Given the description of an element on the screen output the (x, y) to click on. 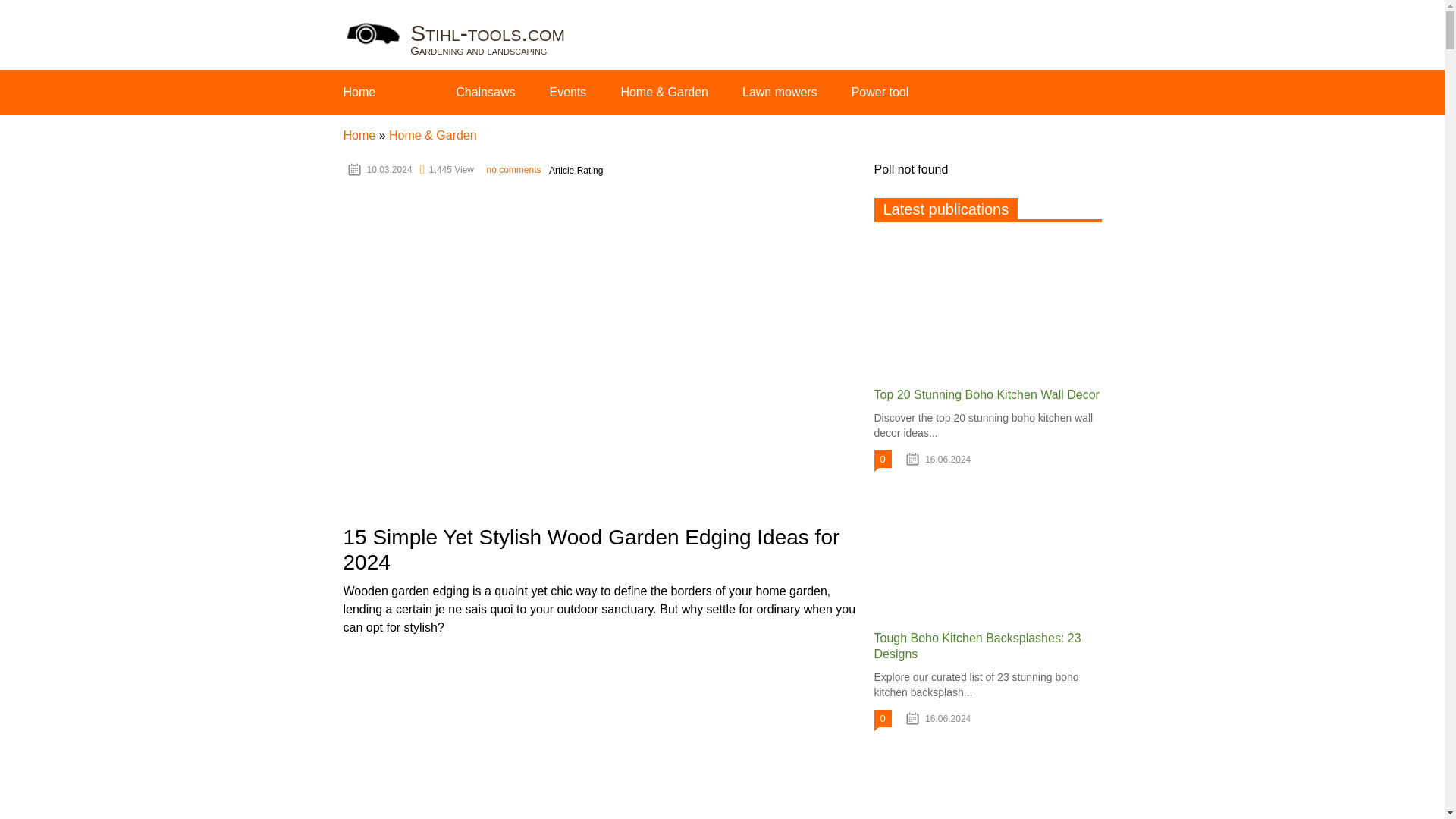
Events (567, 91)
Home (358, 91)
Power tool (879, 91)
Lawn mowers (779, 91)
Chainsaws (485, 91)
